Given the description of an element on the screen output the (x, y) to click on. 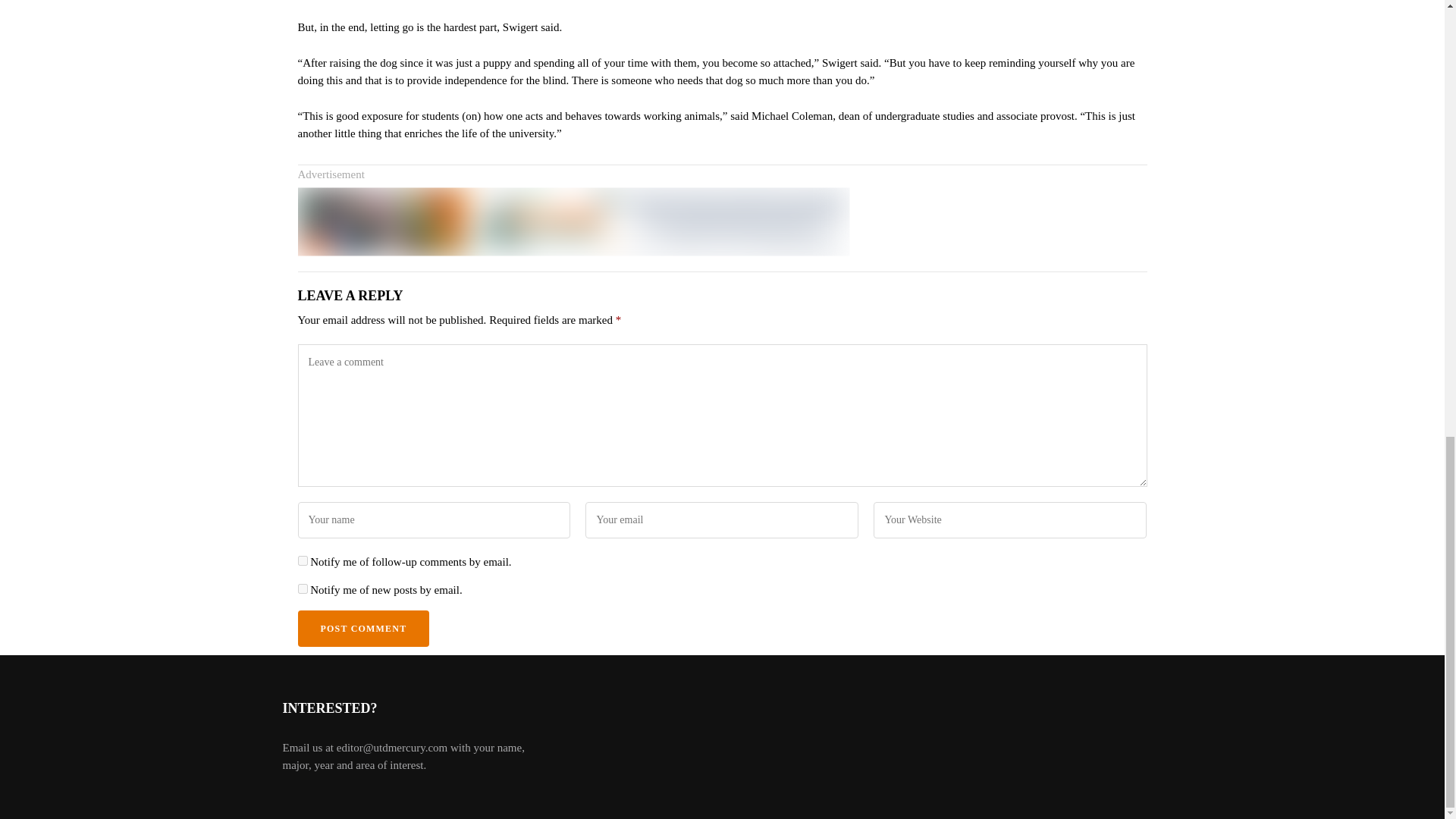
subscribe (302, 560)
subscribe (302, 588)
Post Comment (363, 628)
